Given the description of an element on the screen output the (x, y) to click on. 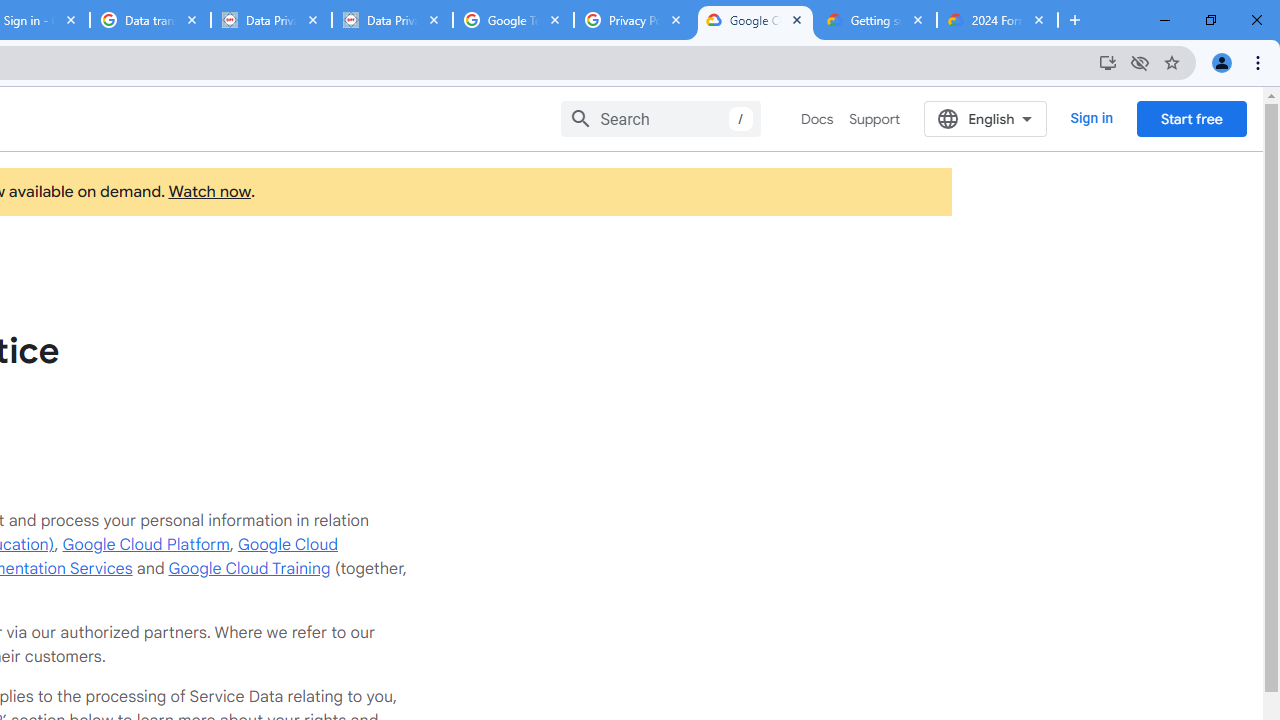
Support (874, 119)
Docs (817, 119)
Google Cloud Privacy Notice (755, 20)
Data Privacy Framework (392, 20)
Google Cloud Platform (145, 544)
